Given the description of an element on the screen output the (x, y) to click on. 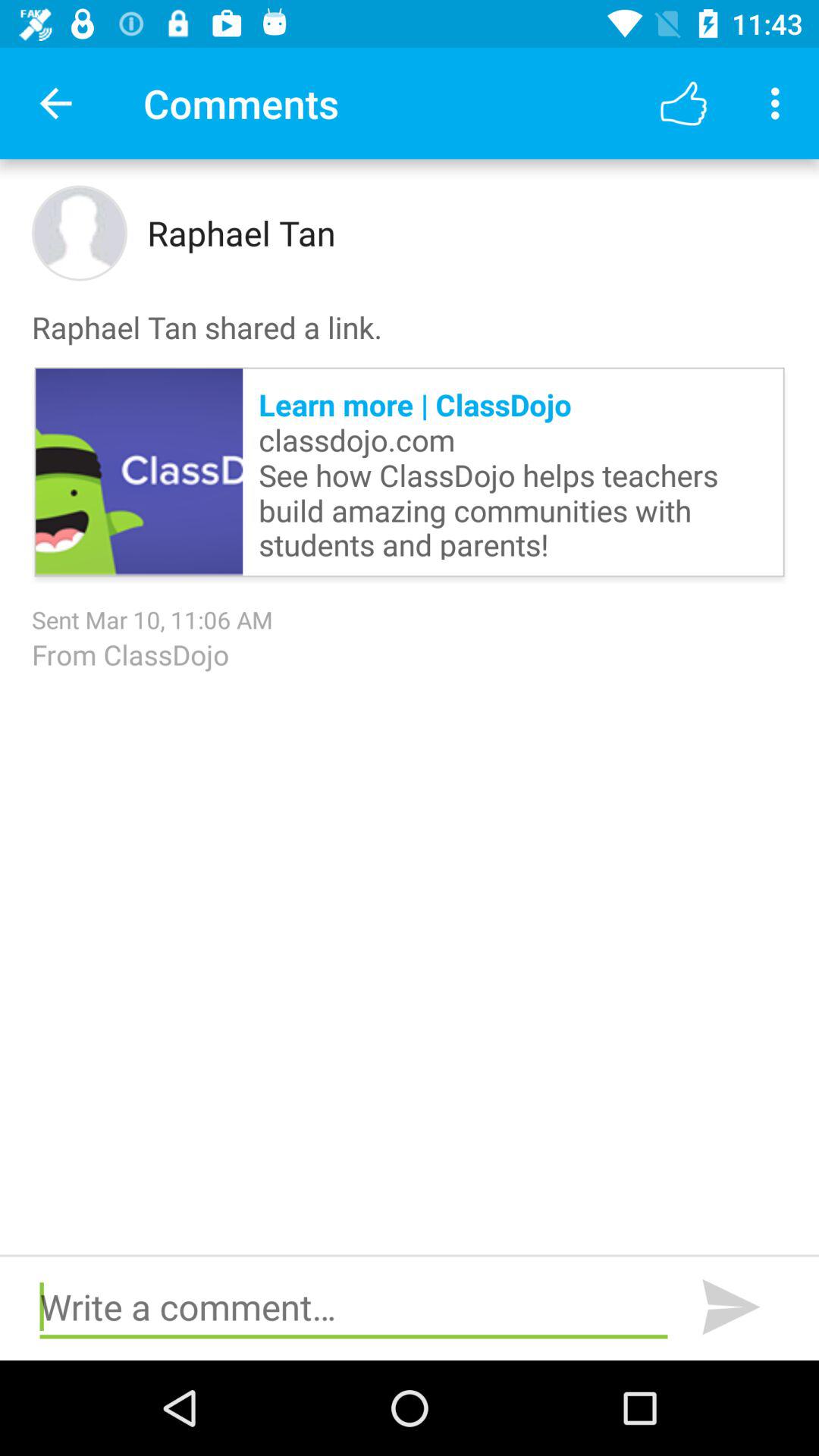
press the learn more classdojo (512, 471)
